Given the description of an element on the screen output the (x, y) to click on. 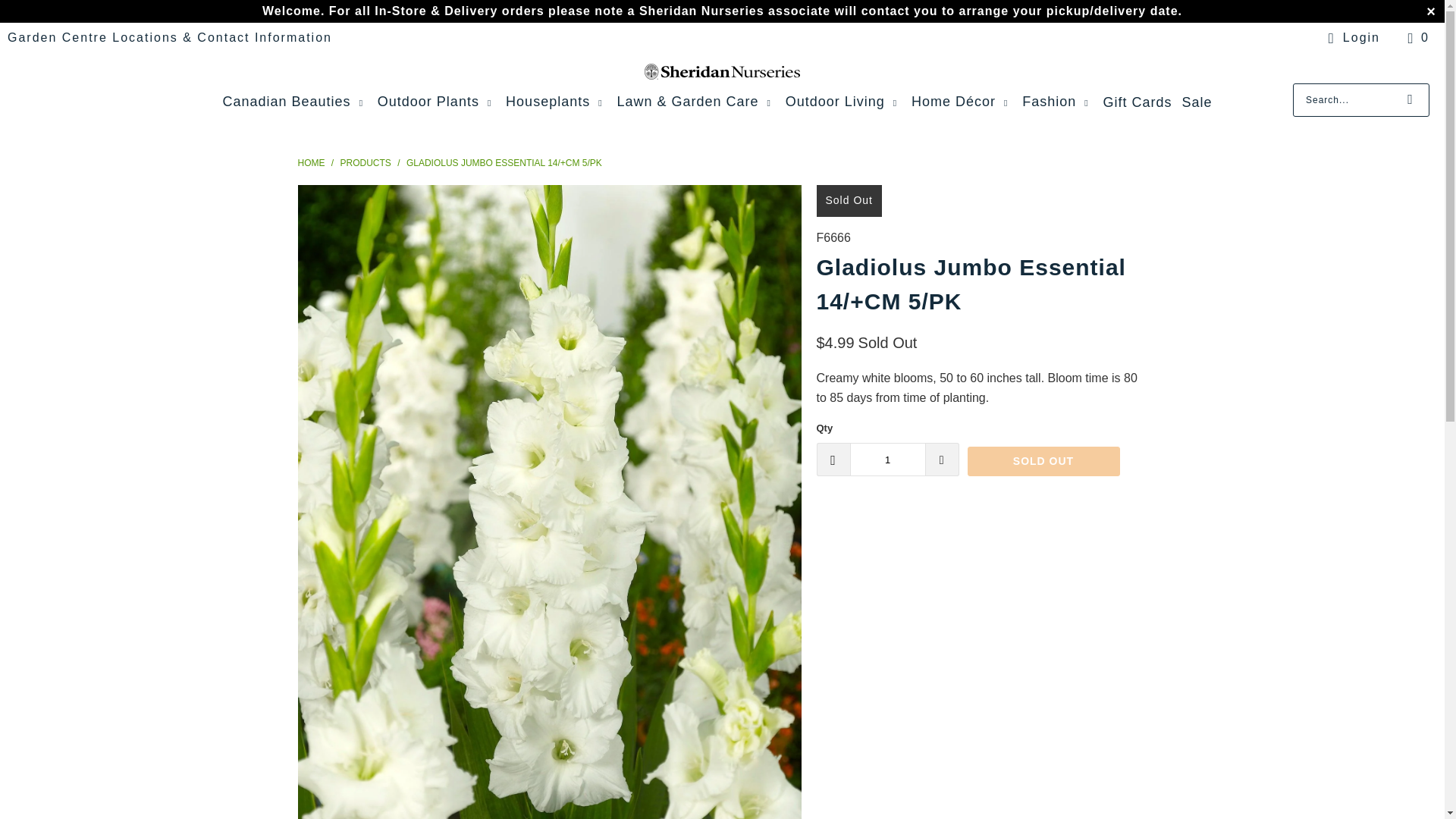
Sheridan Nurseries Online (311, 163)
1 (886, 459)
My Account  (1351, 37)
Sheridan Nurseries Online (722, 71)
Products (367, 163)
